Given the description of an element on the screen output the (x, y) to click on. 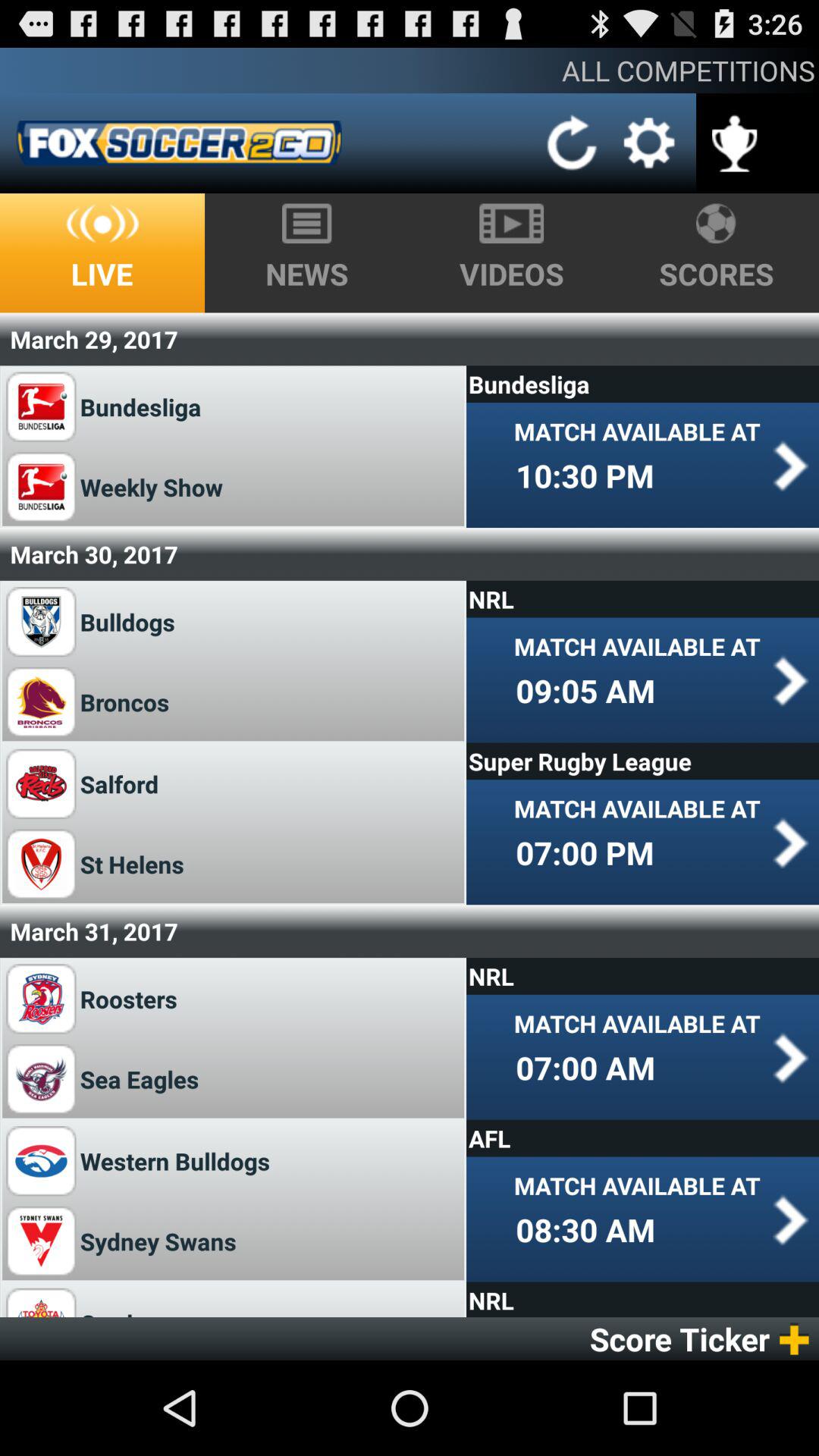
launch icon below the all competitions (572, 143)
